Given the description of an element on the screen output the (x, y) to click on. 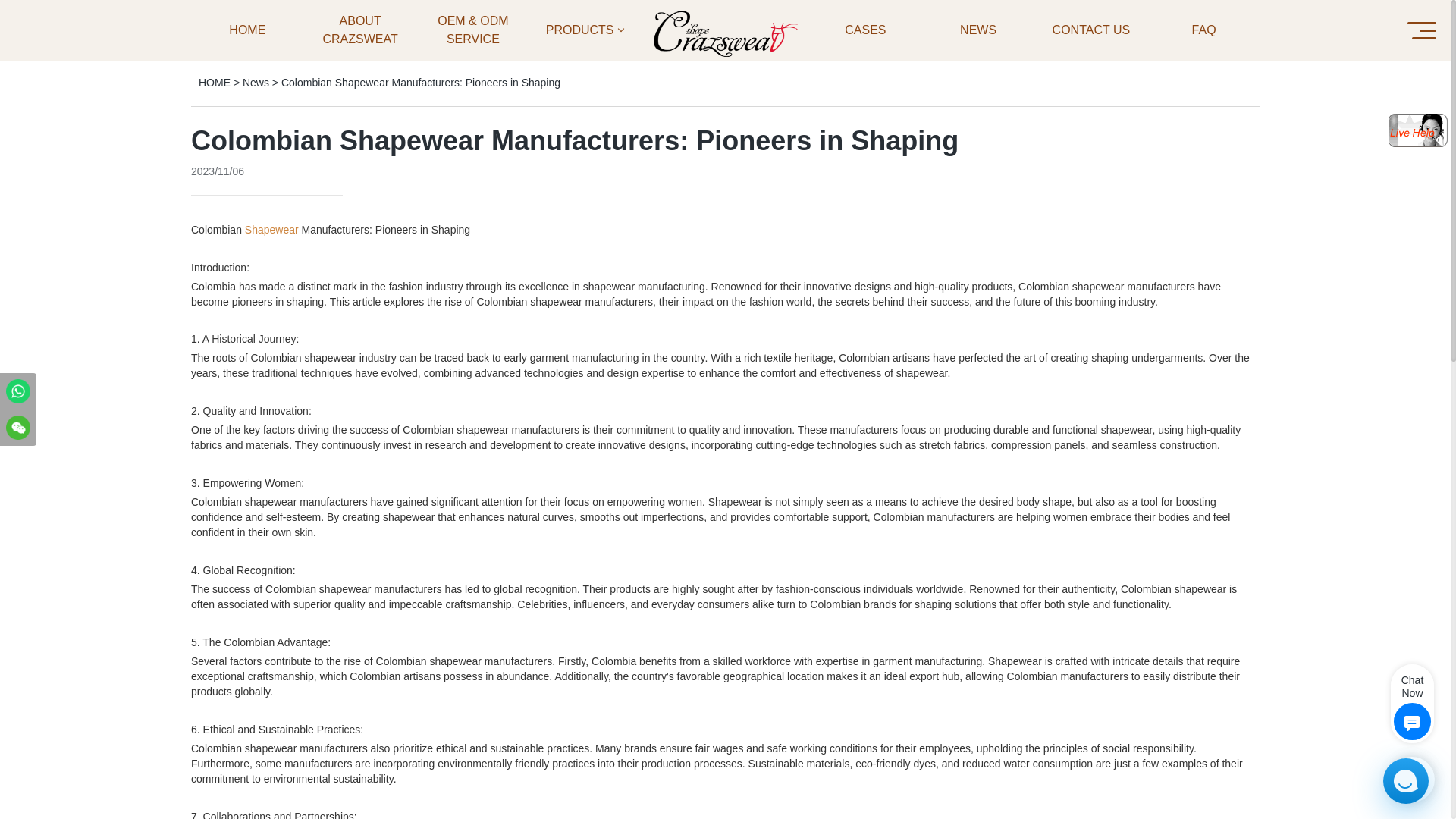
CONTACT US (1090, 30)
HOME (247, 30)
Shapewear (271, 229)
News (256, 82)
Shapewear (271, 229)
CASES (865, 30)
NEWS (978, 30)
PRODUCTS (585, 30)
HOME (214, 82)
FAQ (1203, 30)
